Given the description of an element on the screen output the (x, y) to click on. 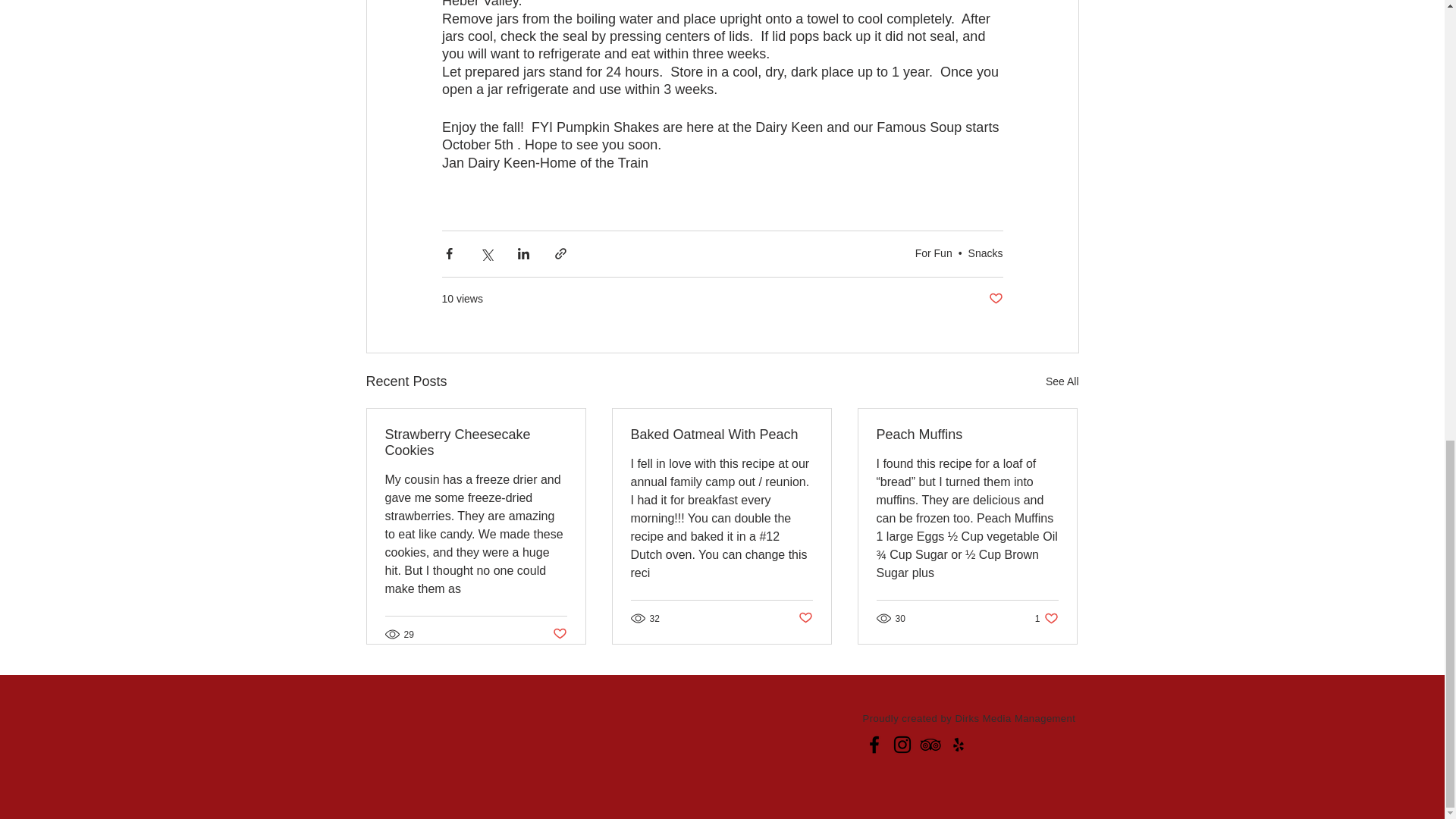
Peach Muffins (967, 434)
Snacks (985, 253)
Post not marked as liked (804, 618)
Post not marked as liked (1046, 617)
See All (995, 299)
Post not marked as liked (1061, 382)
Baked Oatmeal With Peach (558, 634)
Strawberry Cheesecake Cookies (721, 434)
For Fun (476, 442)
